Given the description of an element on the screen output the (x, y) to click on. 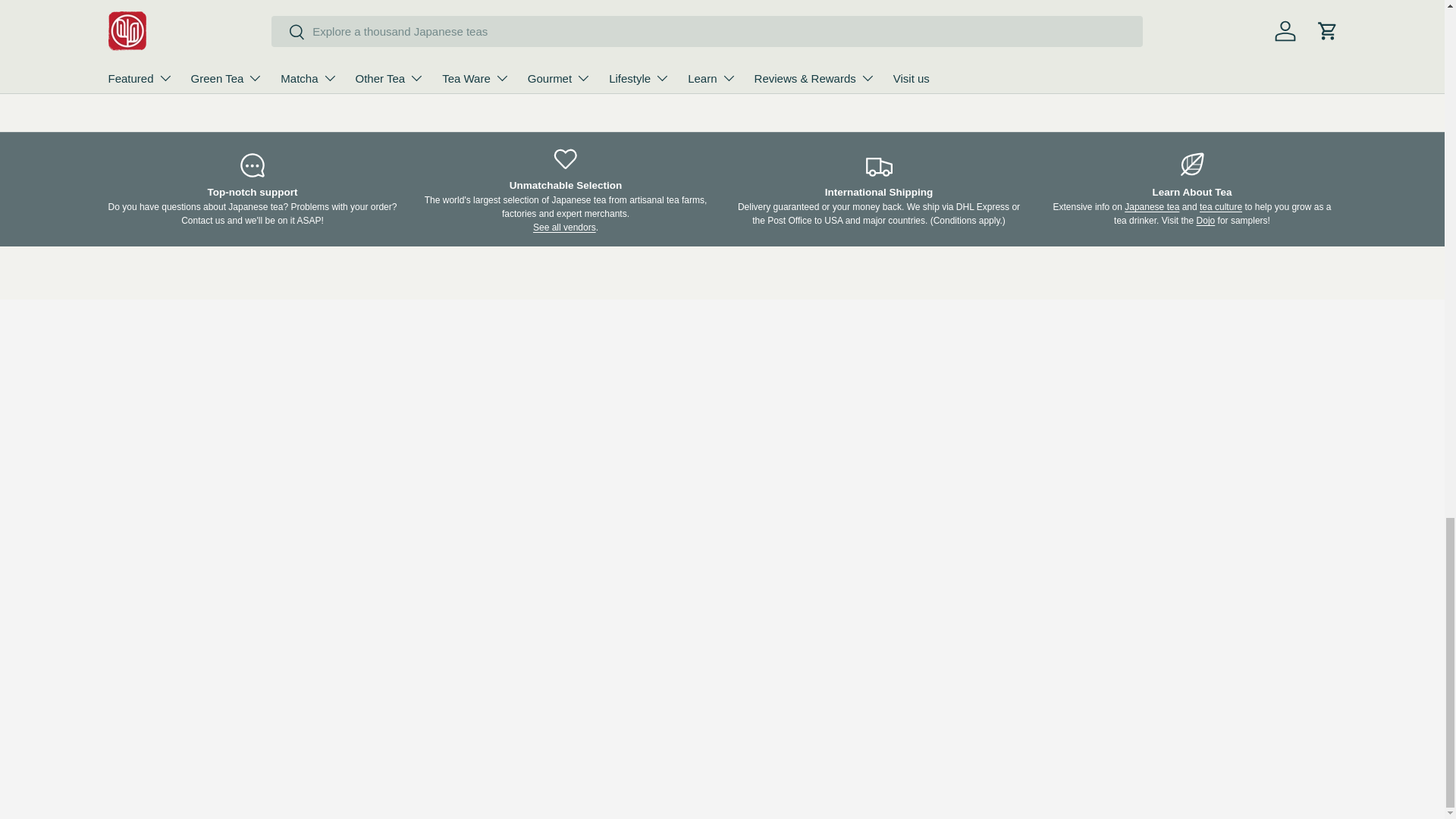
The Yunomi Dojo (1205, 220)
All About Japanese Tea Culture (1220, 206)
Vendors (563, 226)
Professional's Guide to Japanese Tea (1151, 206)
